Given the description of an element on the screen output the (x, y) to click on. 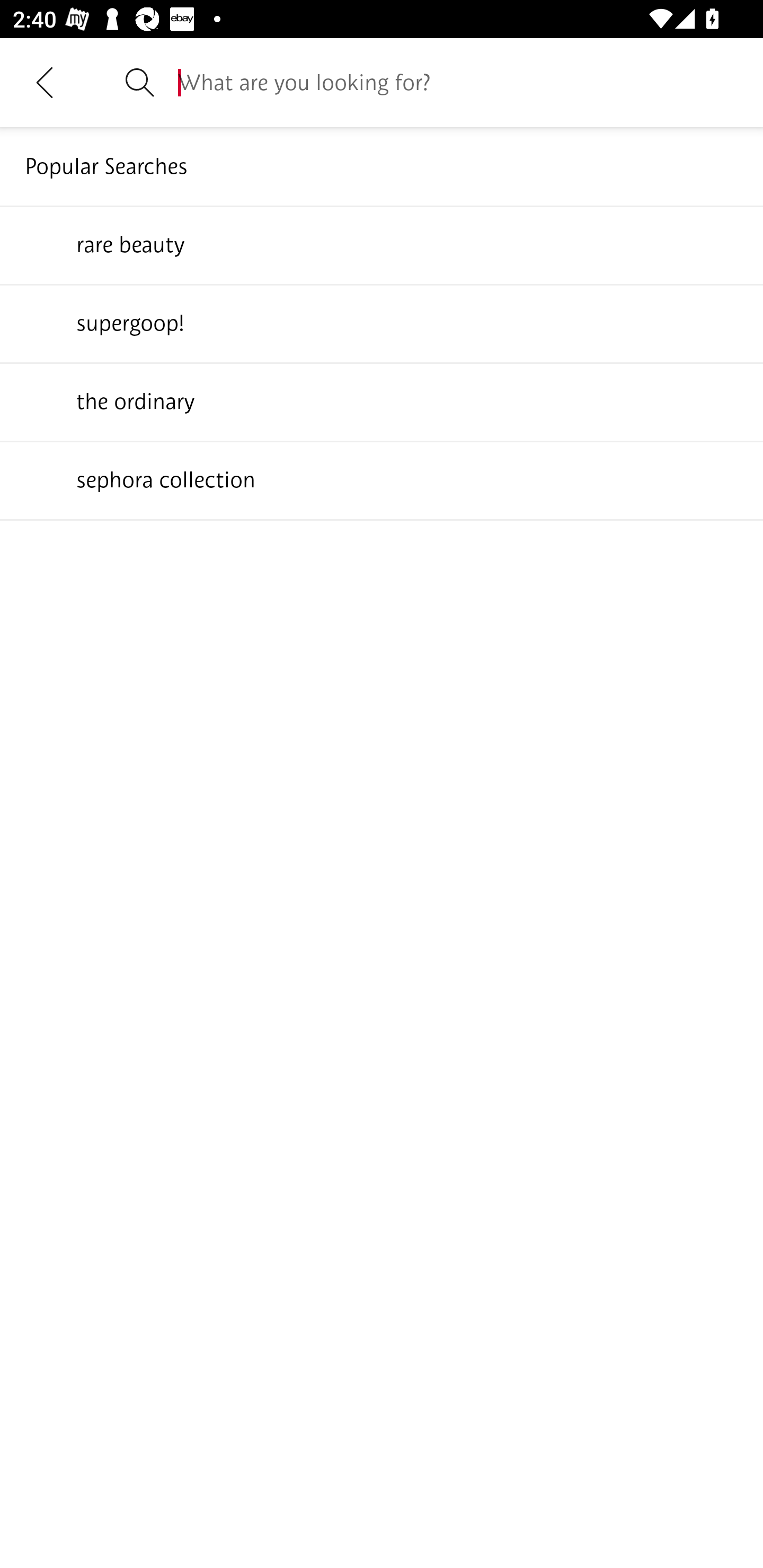
Navigate up (44, 82)
What are you looking for? (457, 82)
rare beauty (381, 244)
supergoop! (381, 322)
the ordinary (381, 401)
sephora collection (381, 479)
